Given the description of an element on the screen output the (x, y) to click on. 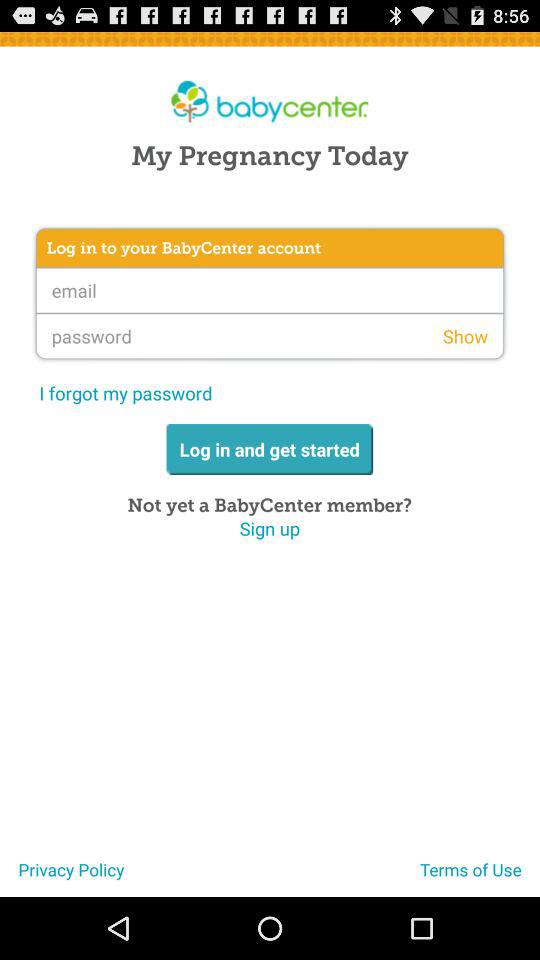
scroll until the terms of use app (480, 877)
